Given the description of an element on the screen output the (x, y) to click on. 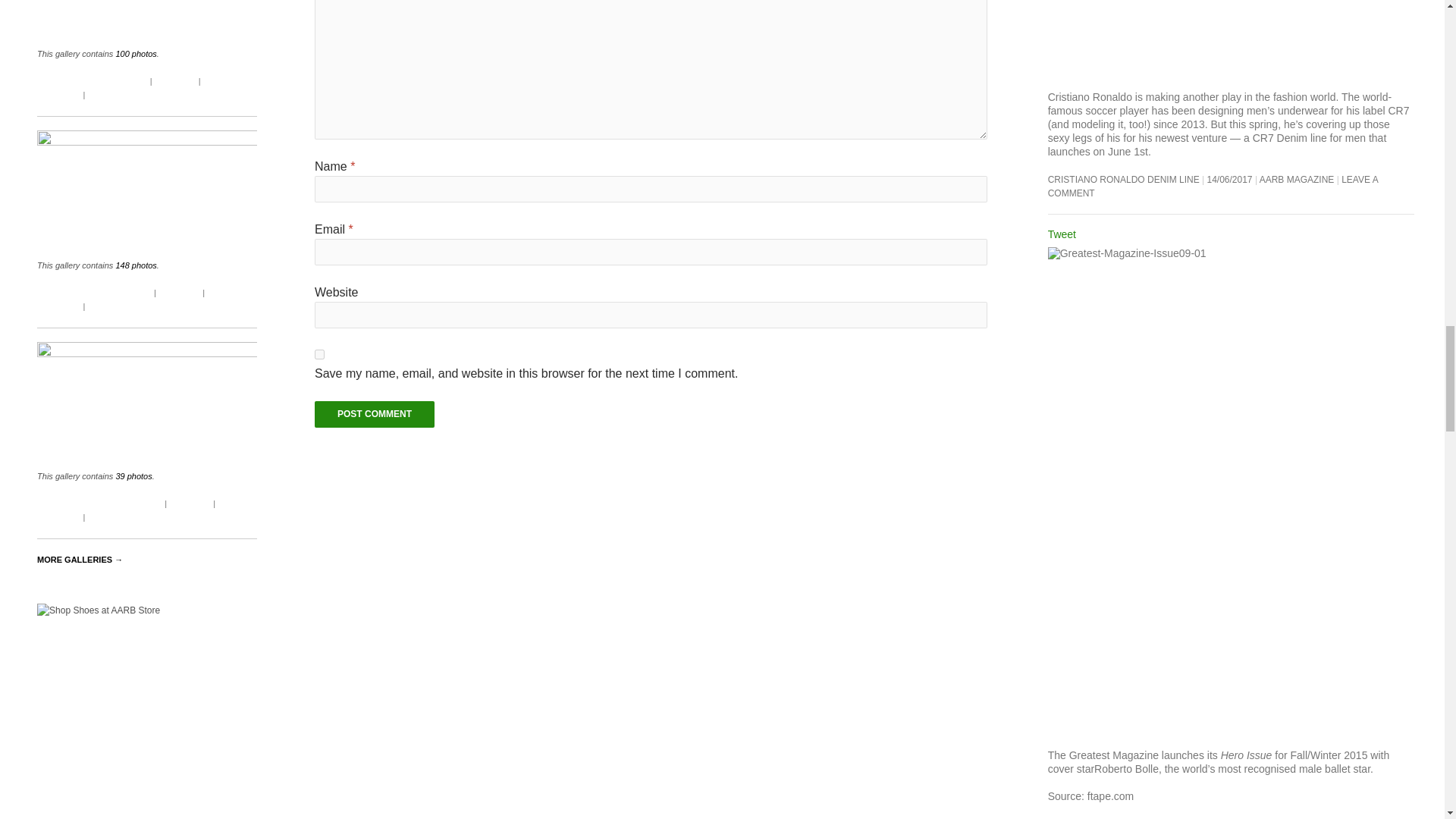
yes (319, 354)
Shop Shoes at AARB Store (147, 711)
Post Comment (373, 414)
Post Comment (373, 414)
